Given the description of an element on the screen output the (x, y) to click on. 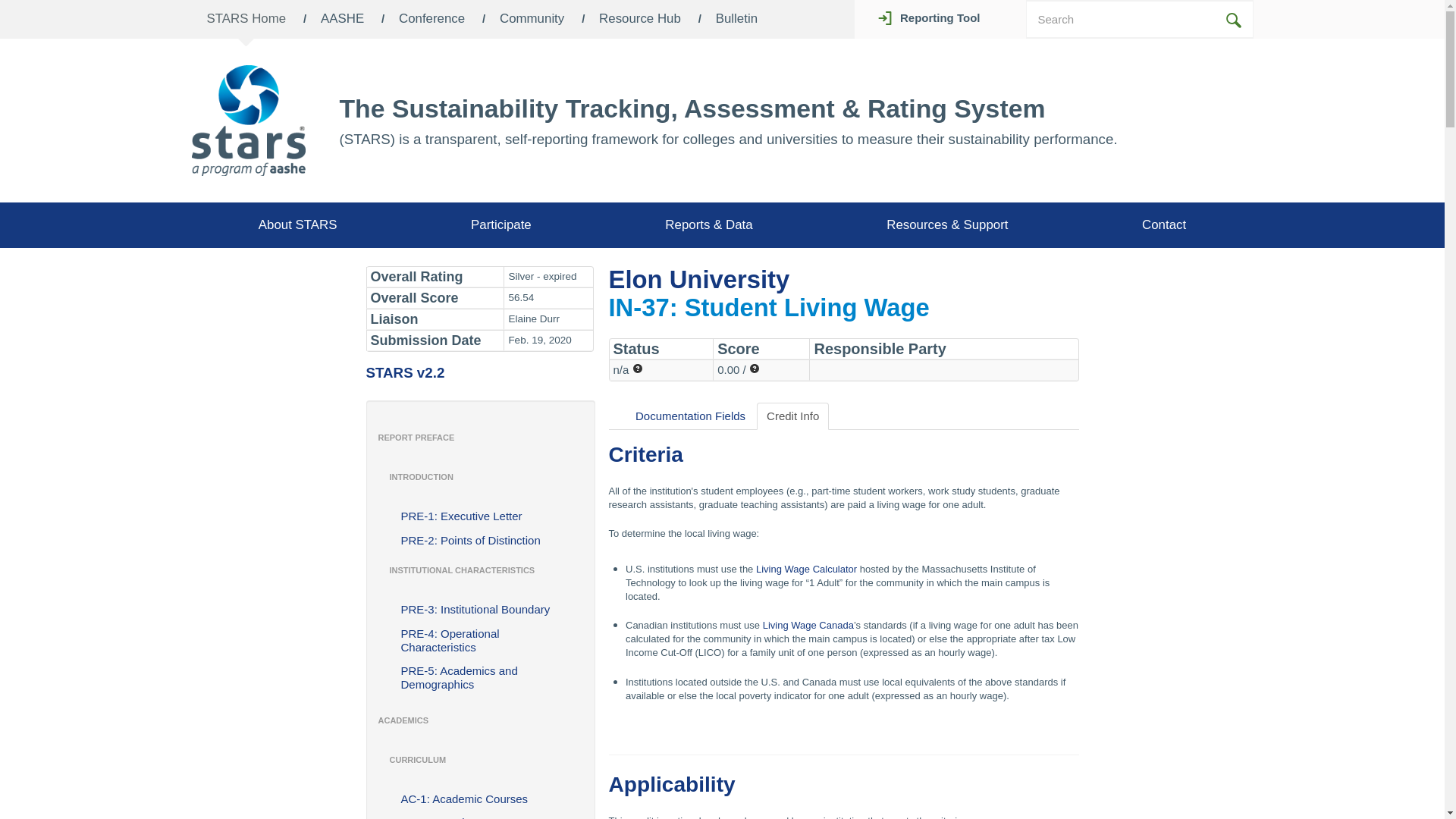
AC-2: Learning Outcomes (481, 816)
PRE-2: Points of Distinction (481, 540)
About STARS (297, 225)
Bulletin (736, 19)
AC-1: Academic Courses (481, 799)
Conference (431, 19)
PRE-3: Institutional Boundary (481, 609)
Search for: (1121, 18)
Resource Hub (639, 19)
Reporting Tool (932, 18)
PRE-1: Executive Letter (481, 515)
PRE-4: Operational Characteristics (481, 640)
STARS v2.2 (404, 372)
PRE-5: Academics and Demographics (481, 677)
